Given the description of an element on the screen output the (x, y) to click on. 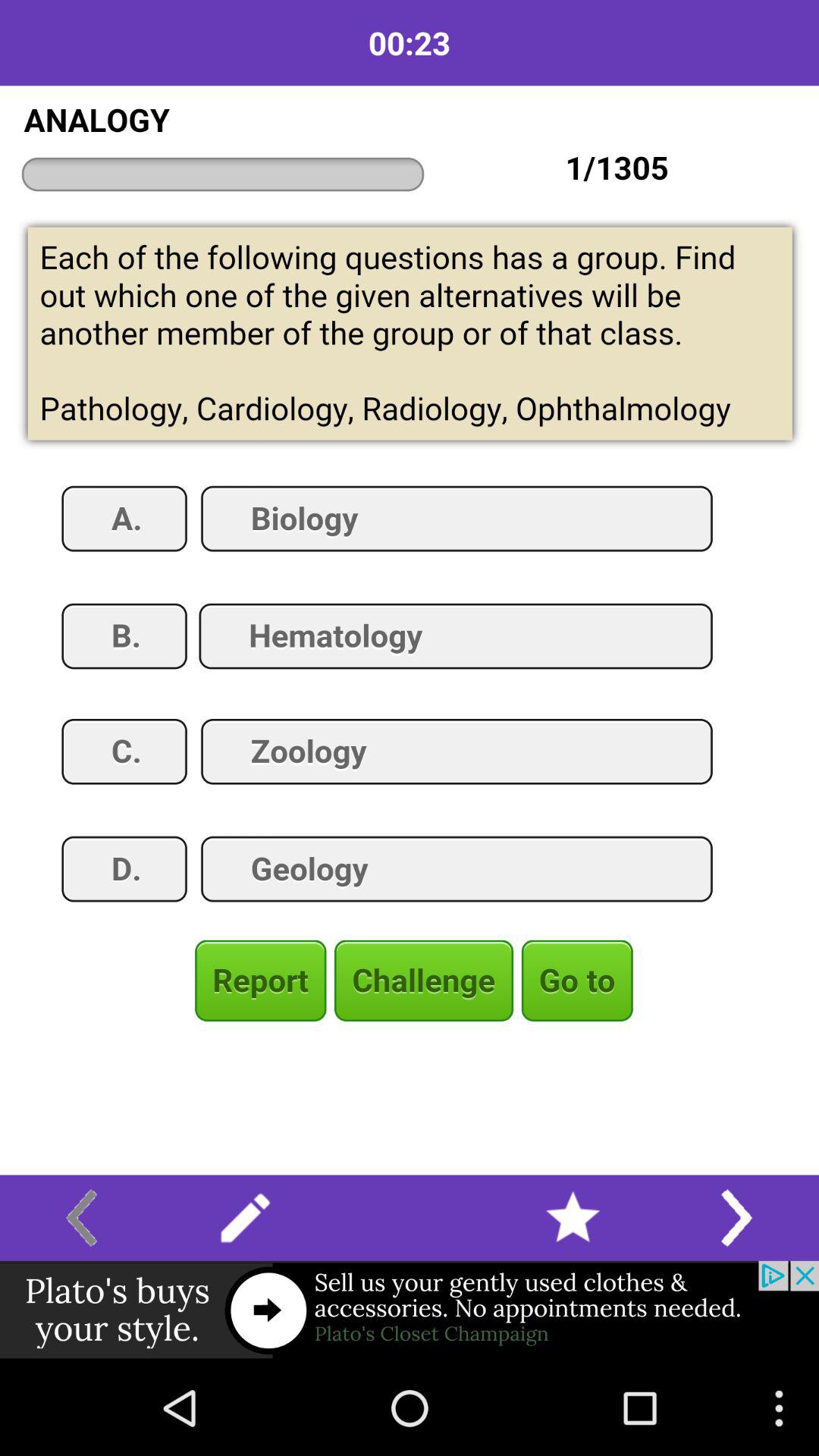
open advertisement (409, 1310)
